Given the description of an element on the screen output the (x, y) to click on. 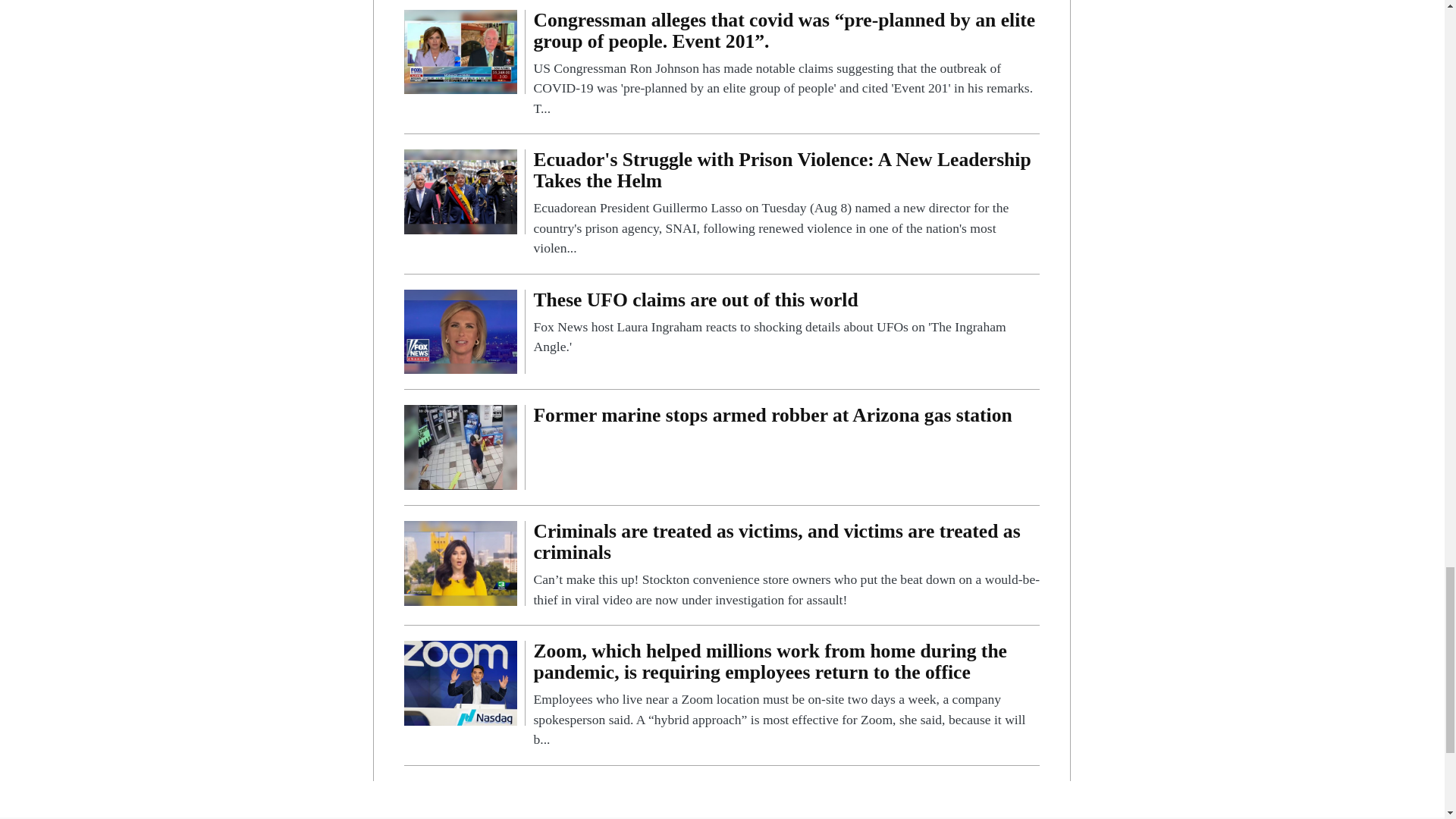
Former marine stops armed robber at Arizona gas station (460, 445)
Former marine stops armed robber at Arizona gas station (785, 418)
These UFO claims are out of this world (460, 330)
Former marine stops armed robber at Arizona gas station (785, 418)
These UFO claims are out of this world (785, 323)
